Given the description of an element on the screen output the (x, y) to click on. 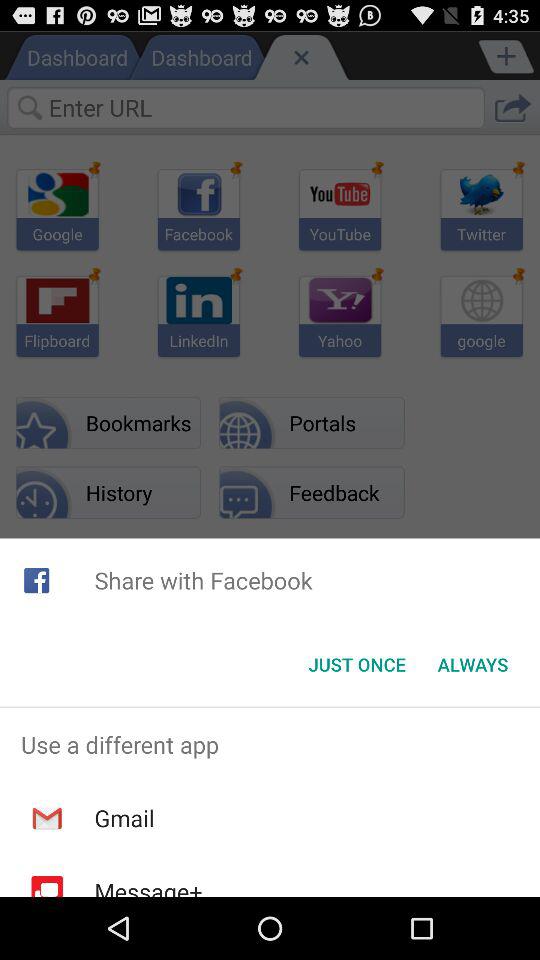
flip until gmail icon (124, 817)
